Given the description of an element on the screen output the (x, y) to click on. 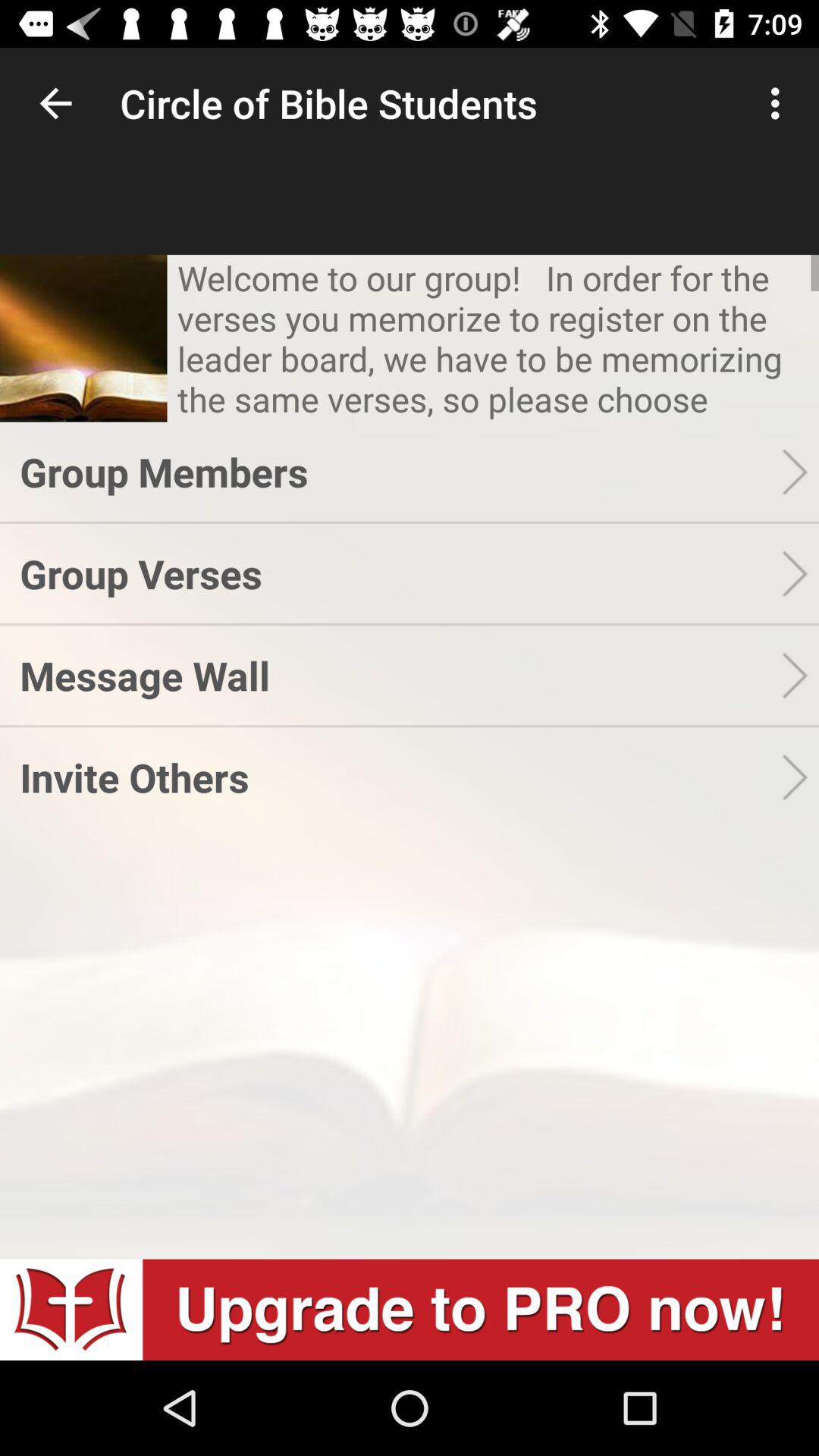
tap the item below message wall item (399, 776)
